Given the description of an element on the screen output the (x, y) to click on. 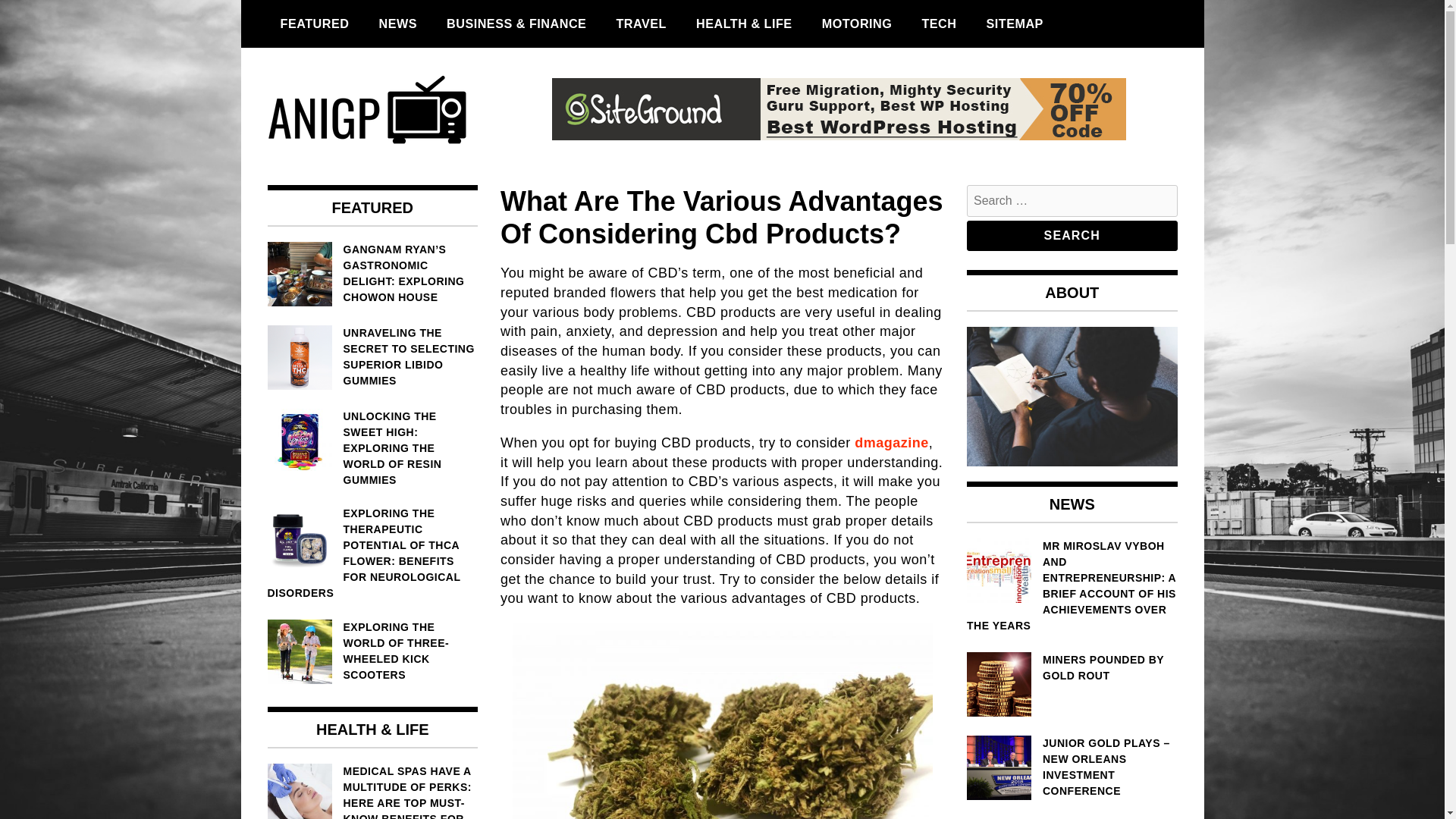
SITEMAP (1014, 23)
Search (1071, 235)
TECH (939, 23)
EXPLORING THE WORLD OF THREE-WHEELED KICK SCOOTERS (371, 651)
MOTORING (857, 23)
NEWS (397, 23)
TRAVEL (641, 23)
UNRAVELING THE SECRET TO SELECTING SUPERIOR LIBIDO GUMMIES (371, 357)
